Given the description of an element on the screen output the (x, y) to click on. 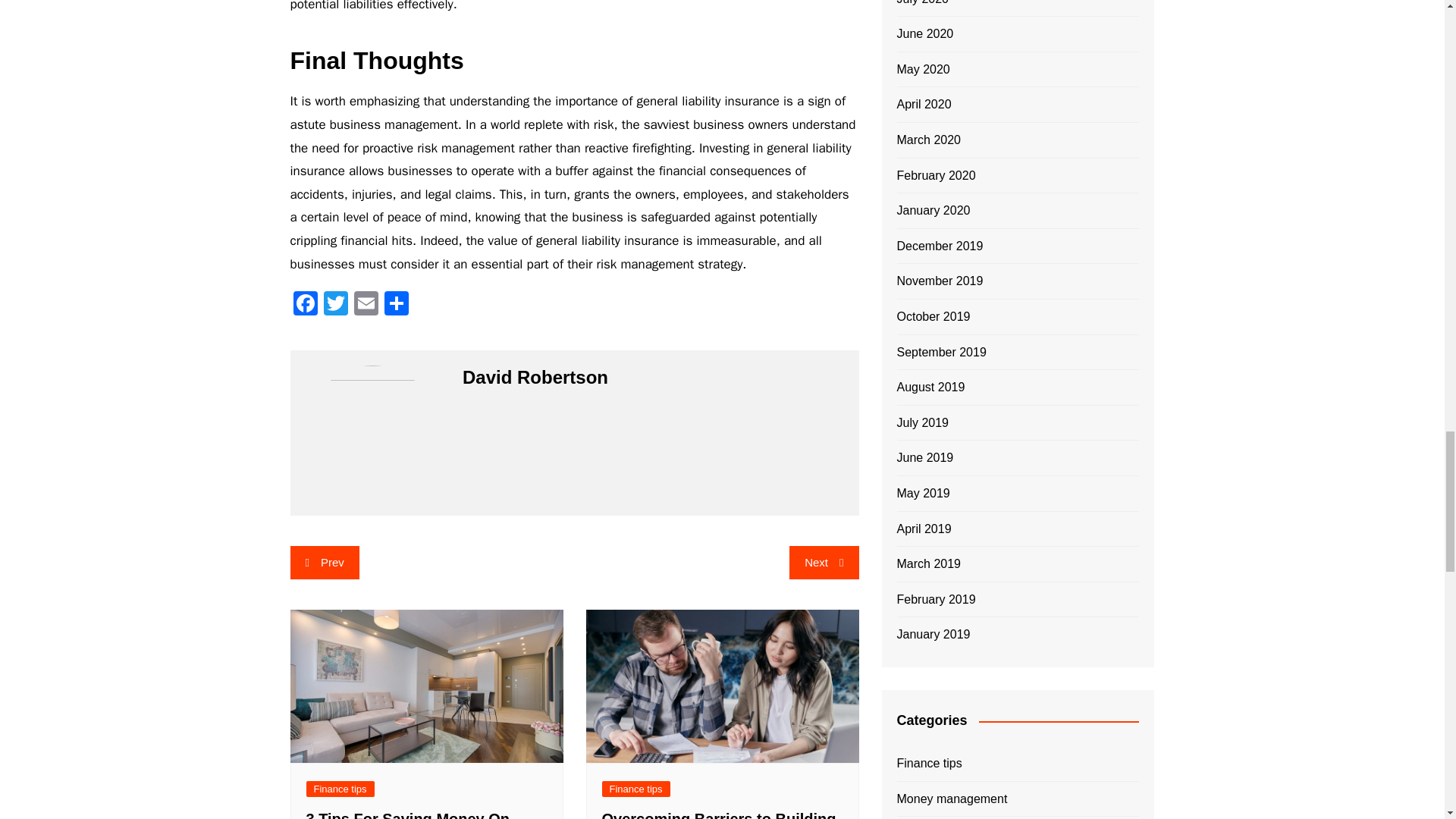
Next (824, 562)
Prev (323, 562)
Finance tips (635, 788)
3 Tips For Saving Money On Home Furniture (408, 814)
Email (365, 305)
Twitter (335, 305)
Email (365, 305)
Facebook (304, 305)
Overcoming Barriers to Building Wealth (718, 814)
Facebook (304, 305)
Finance tips (339, 788)
Twitter (335, 305)
